Given the description of an element on the screen output the (x, y) to click on. 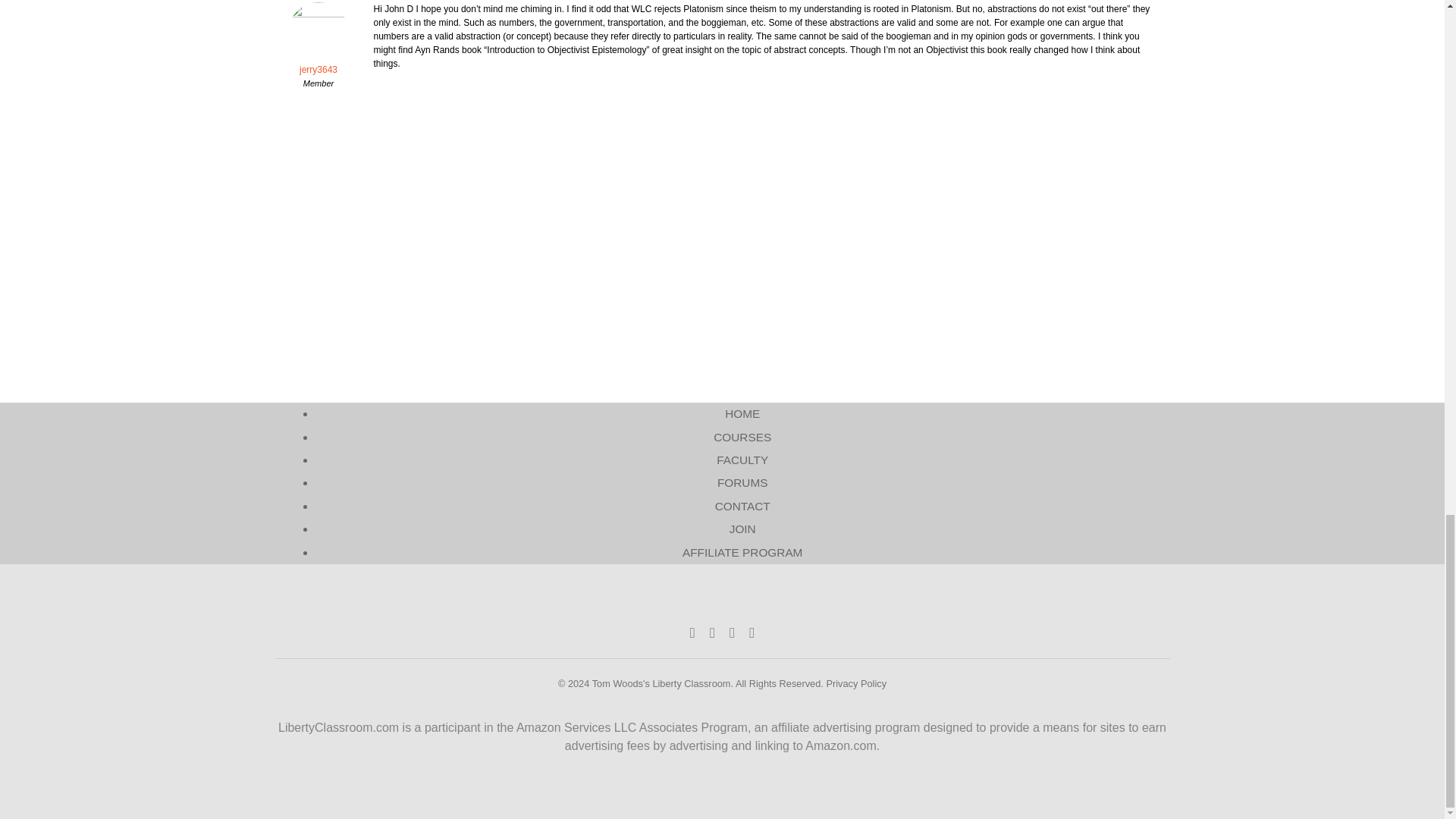
Rss (751, 632)
Facebook (692, 632)
Youtube (732, 632)
Twitter (712, 632)
View jerry3643's profile (318, 49)
